Given the description of an element on the screen output the (x, y) to click on. 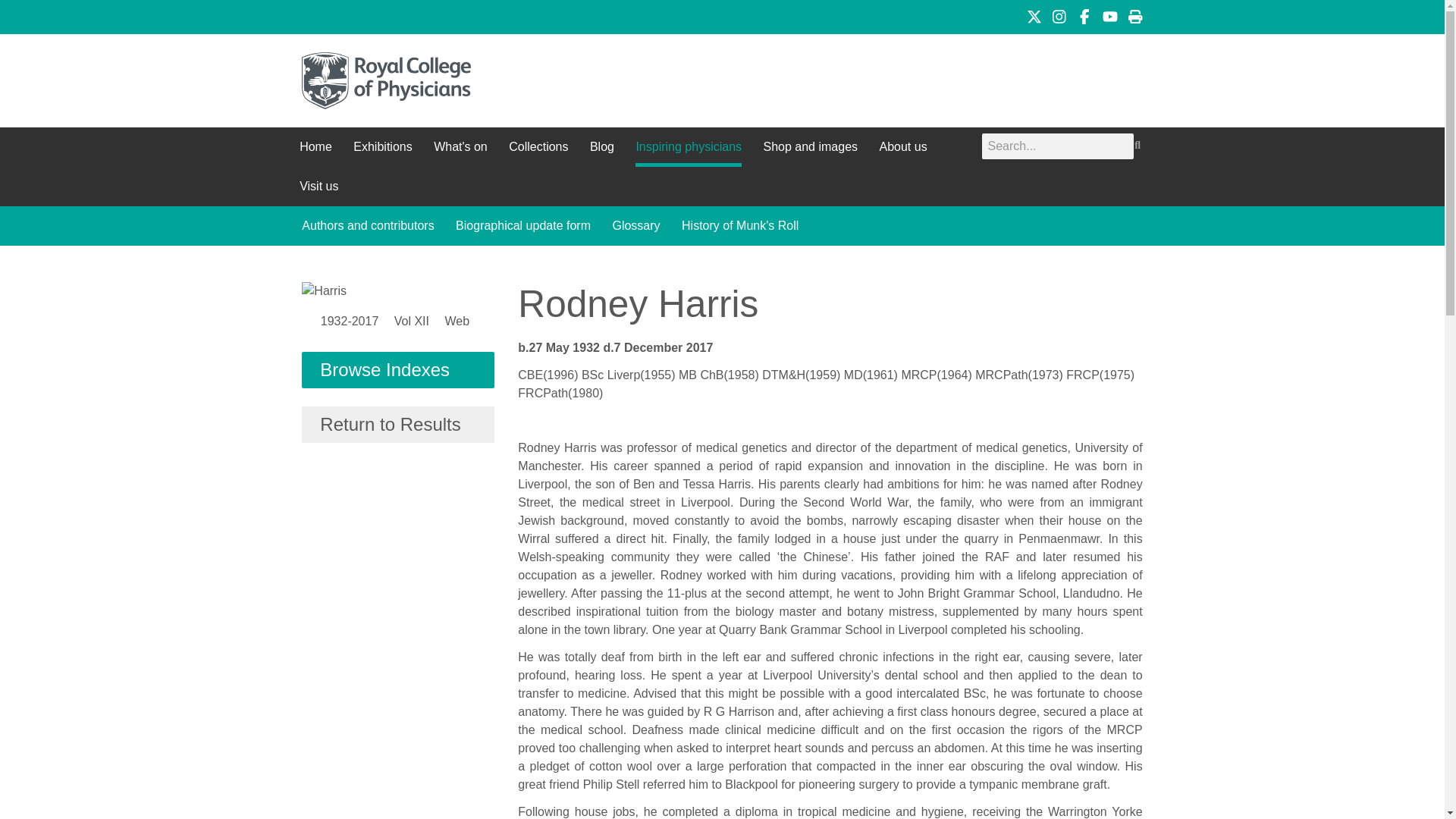
Opens in a new window (1110, 16)
About us (902, 147)
Inspiring physicians (687, 147)
Glossary (635, 225)
Exhibitions (382, 147)
Opens in a new window (1034, 16)
Enter the terms you wish to search for. (1057, 145)
Authors and contributors (367, 225)
What's on (460, 147)
Opens in a new window (1058, 16)
Biographical update form (523, 225)
Collections (537, 147)
Visit us (318, 186)
History of Munk's Roll (739, 225)
